Given the description of an element on the screen output the (x, y) to click on. 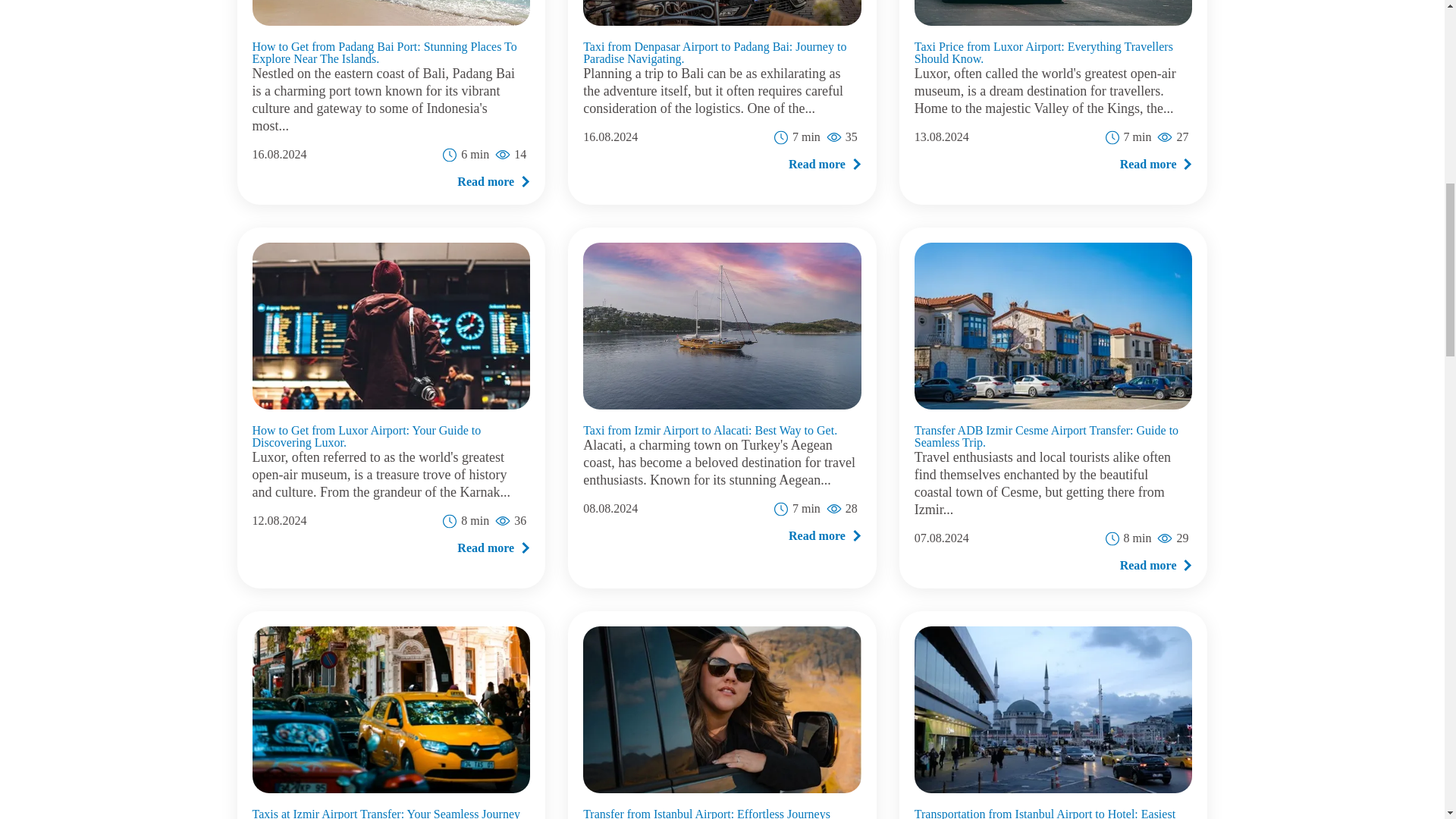
Read more (493, 181)
Read more (1155, 163)
Read more (825, 163)
